Given the description of an element on the screen output the (x, y) to click on. 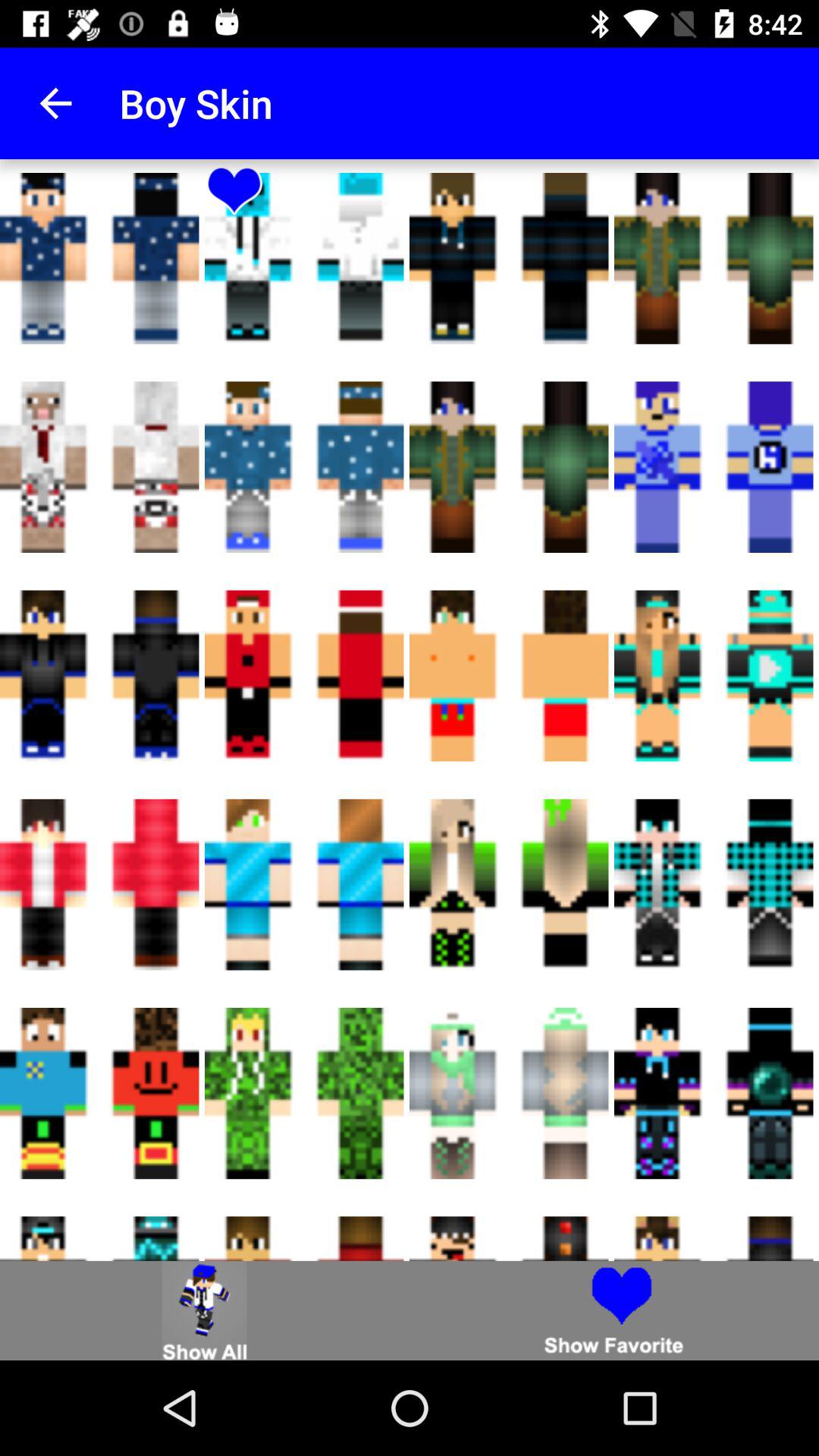
tap app to the left of the boy skin (55, 103)
